Given the description of an element on the screen output the (x, y) to click on. 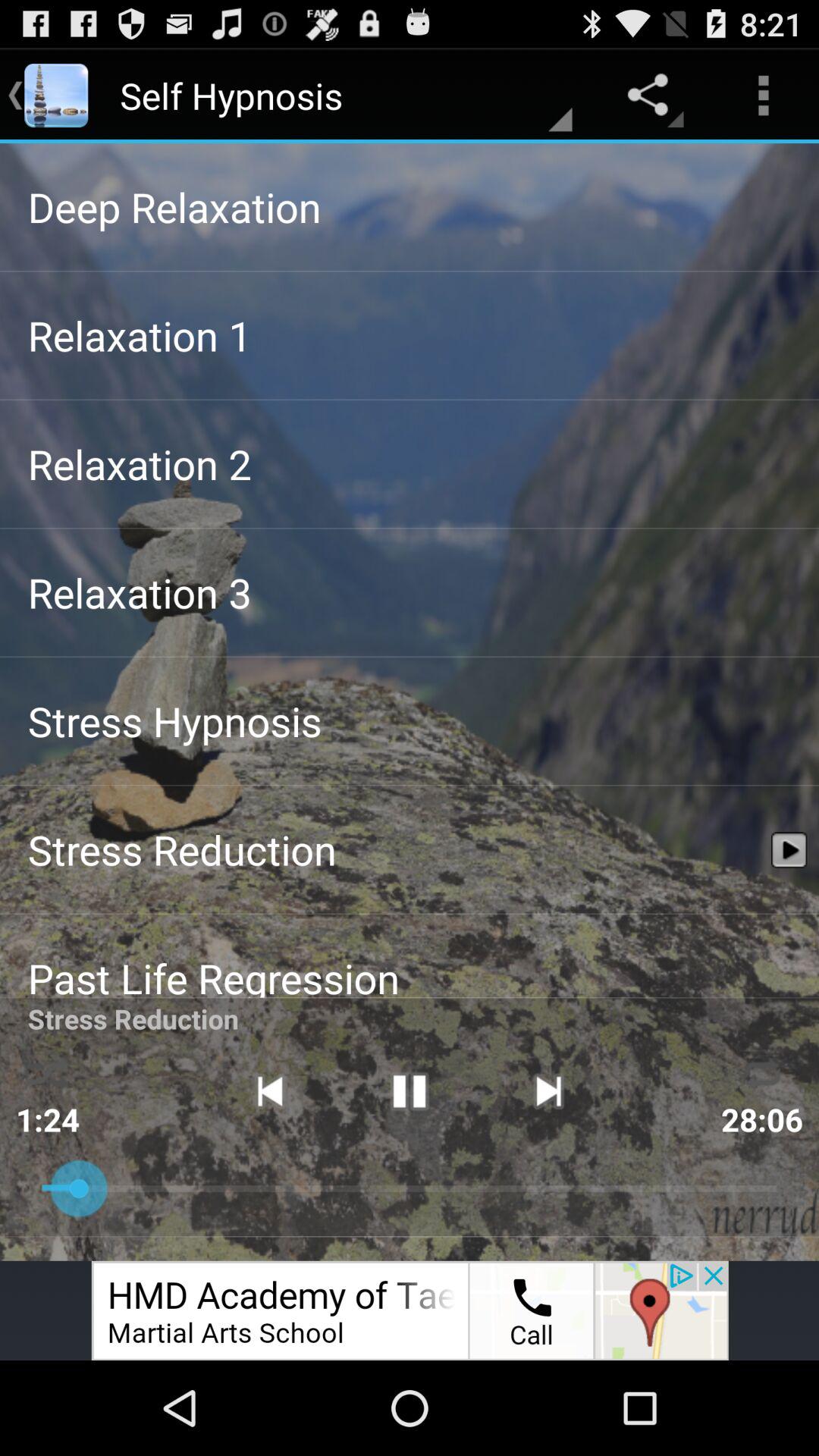
open advertisement (409, 1310)
